Given the description of an element on the screen output the (x, y) to click on. 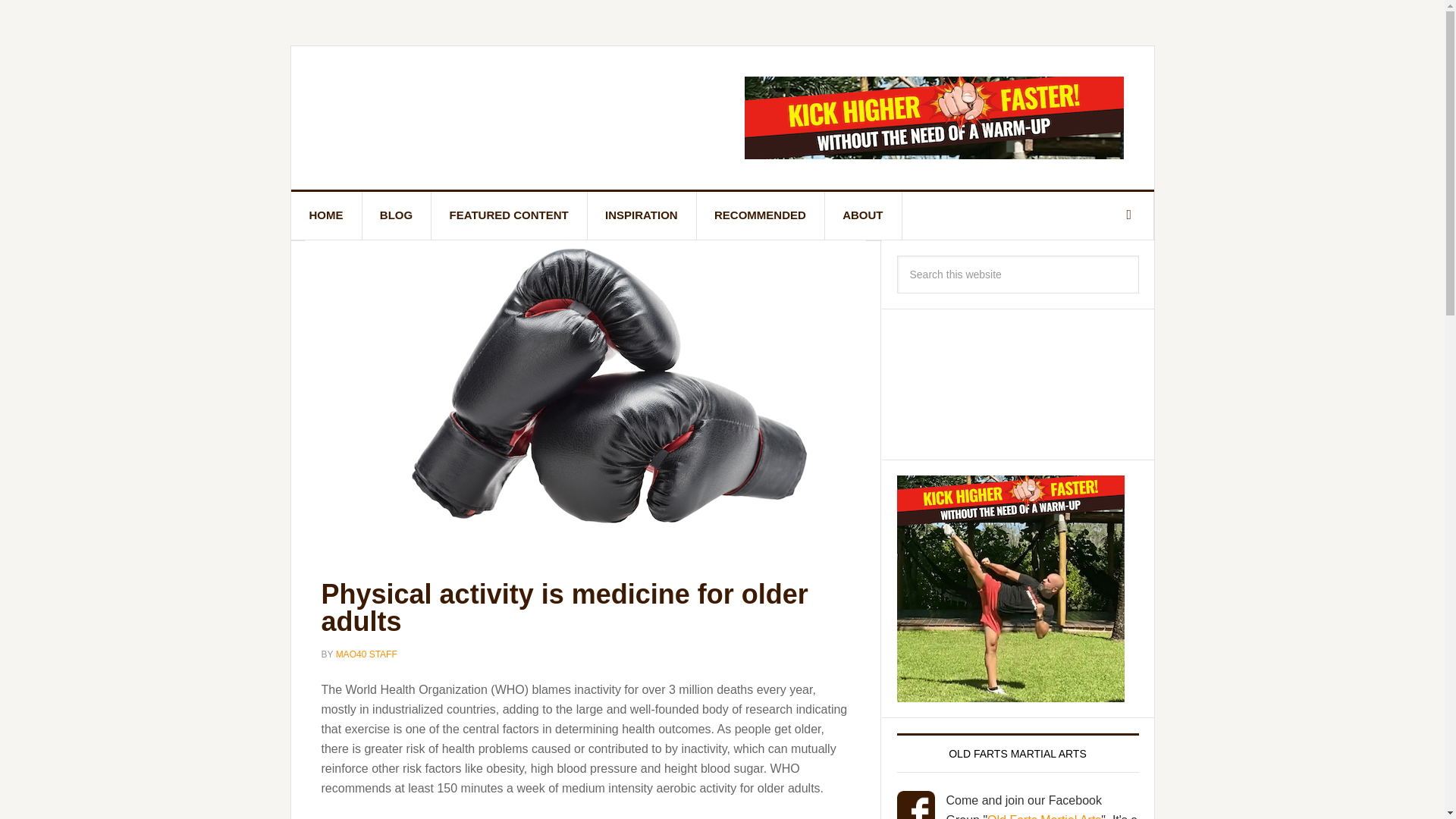
BLOG (395, 215)
ABOUT (862, 215)
RECOMMENDED (760, 215)
INSPIRATION (641, 215)
FEATURED CONTENT (509, 215)
Old Farts Martial Arts (1043, 816)
MARTIAL ARTS OVER 40 (419, 114)
